Given the description of an element on the screen output the (x, y) to click on. 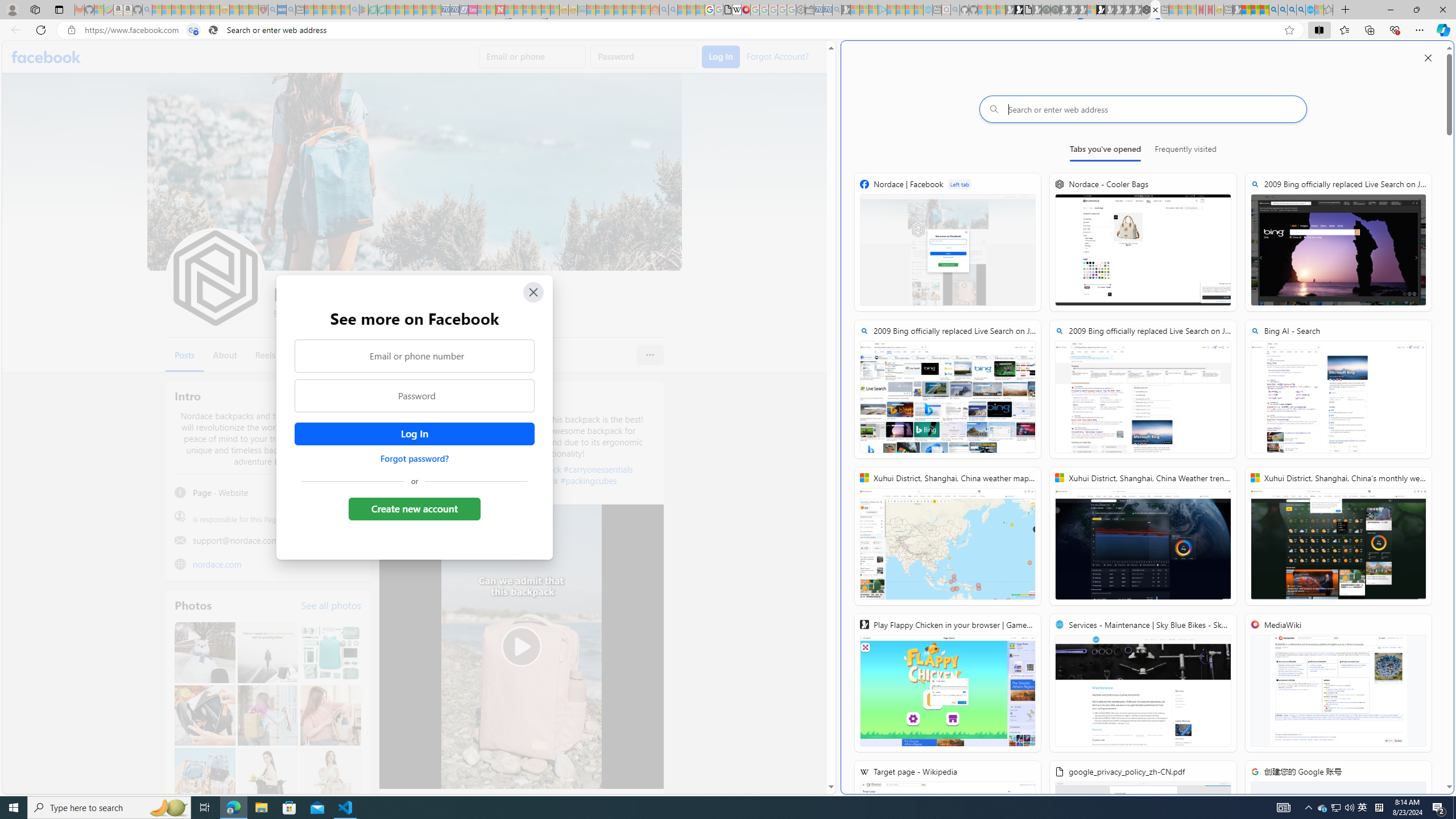
Email or phone (532, 56)
